Given the description of an element on the screen output the (x, y) to click on. 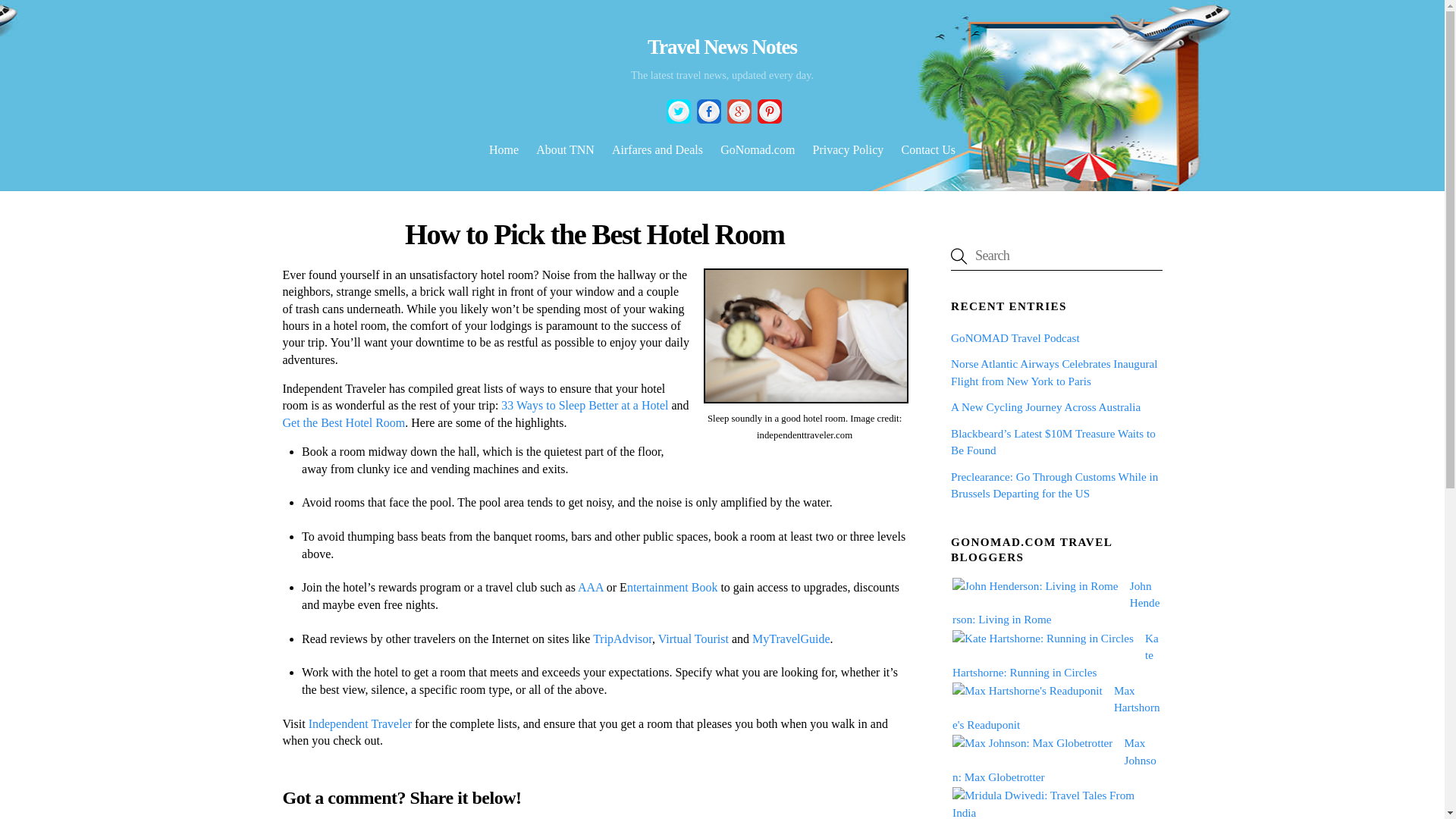
John Henderson: Living in Rome (1055, 602)
GoNOMAD Travel Podcast (1015, 337)
33 Ways to Sleep Better at a Hotel (584, 404)
MyTravelGuide (790, 638)
Independent Traveler (360, 723)
How to Pick the Best Hotel Room (594, 234)
Virtual Tourist (693, 638)
Travel News Notes (721, 47)
Home (503, 151)
Privacy Policy (848, 151)
ntertainment Book (672, 586)
Contact Us (927, 151)
